Given the description of an element on the screen output the (x, y) to click on. 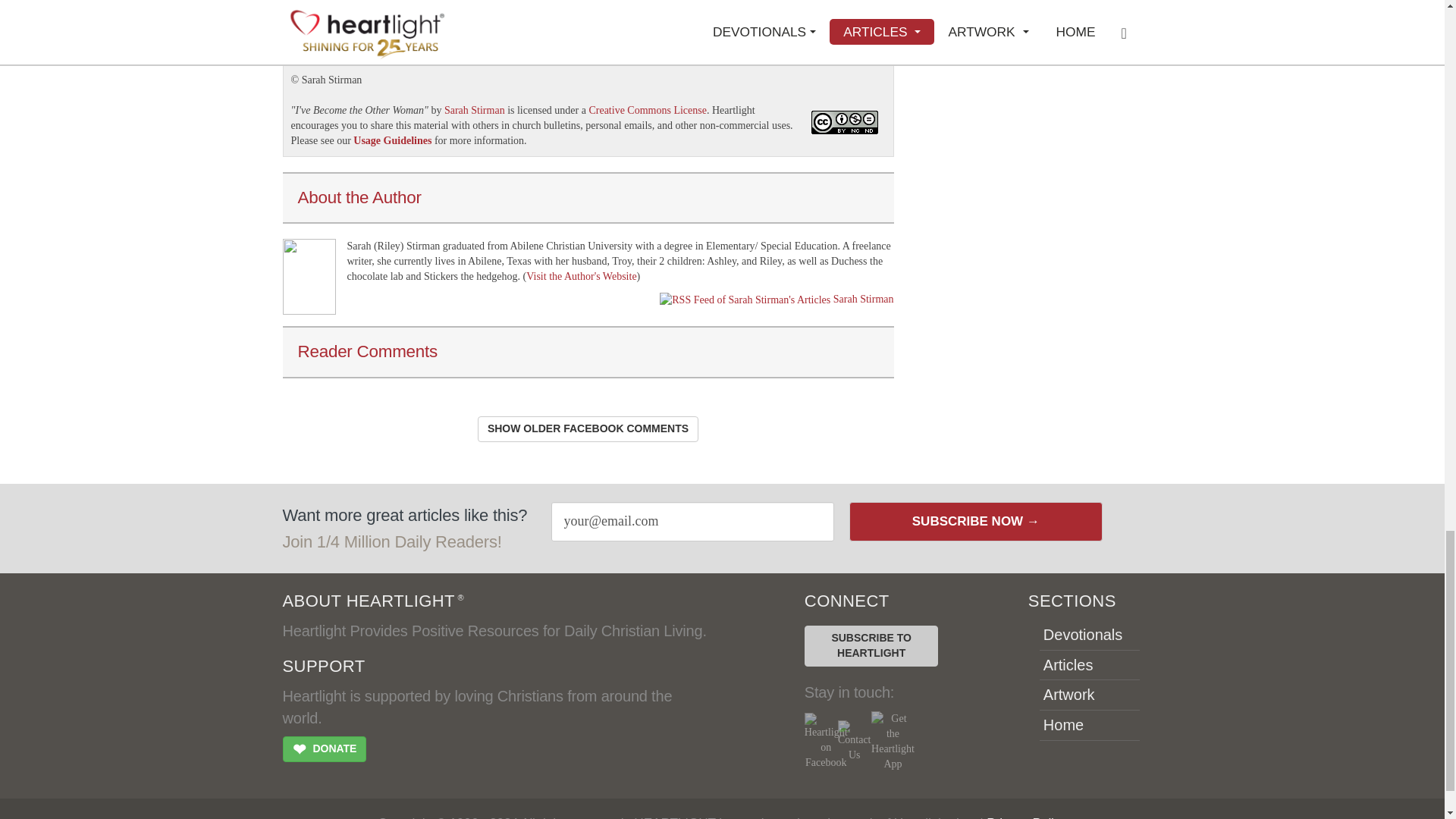
RSS Feed of Sarah Stirman's Articles (862, 298)
Contact Us (854, 741)
Heartlight on Facebook (826, 741)
Get the Heartlight App (892, 741)
RSS Feed of Sarah Stirman's Articles (744, 299)
